Given the description of an element on the screen output the (x, y) to click on. 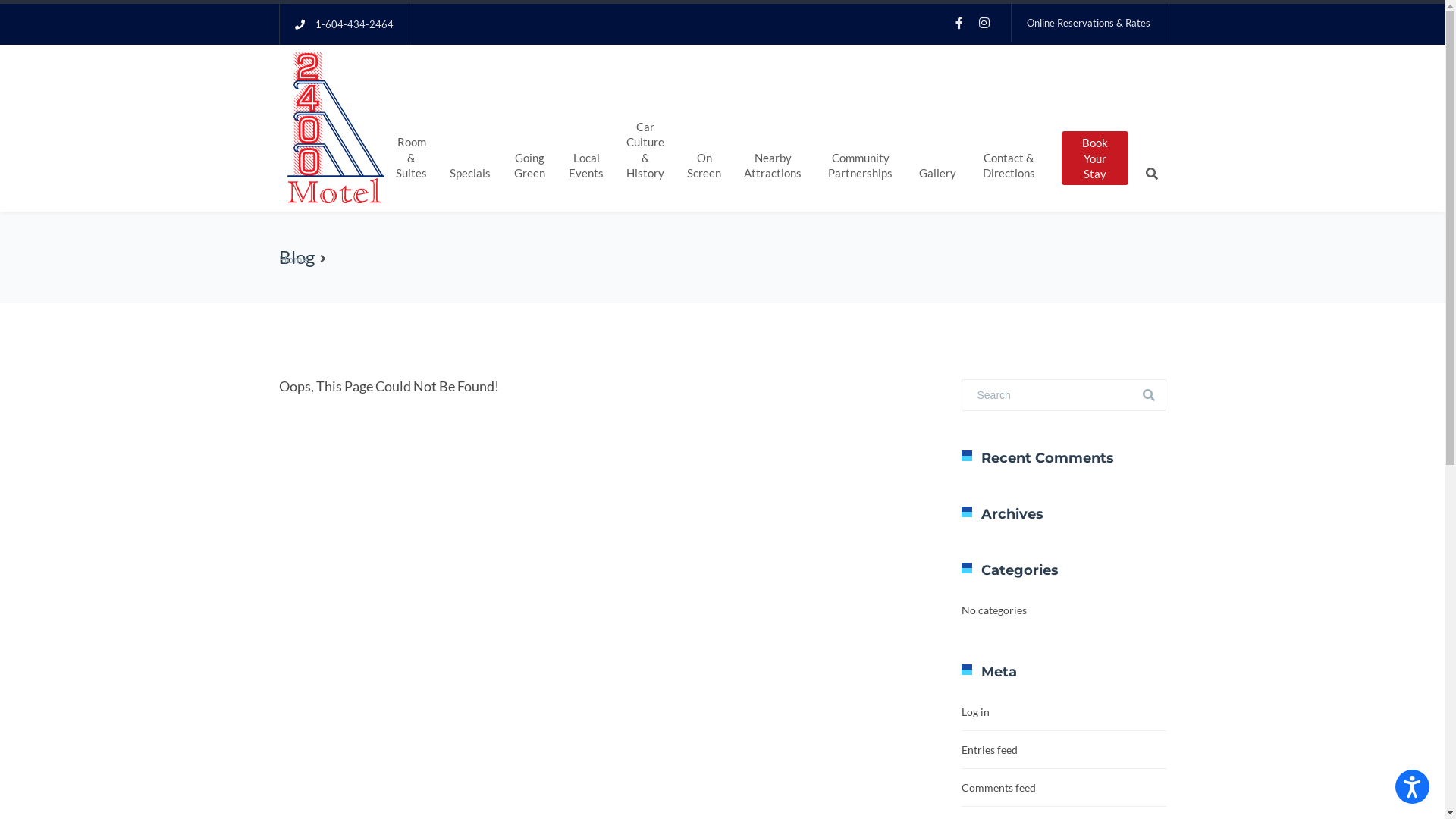
Contact & Directions Element type: text (1008, 163)
On Screen Element type: text (703, 163)
Entries feed Element type: text (989, 749)
Going Green Element type: text (529, 163)
Community Partnerships Element type: text (859, 163)
2400 Motel Element type: hover (332, 127)
Log in Element type: text (975, 711)
Room
& Suites Element type: text (411, 155)
Home Element type: text (293, 258)
Comments feed Element type: text (998, 787)
Gallery Element type: text (937, 170)
Local
Events Element type: text (586, 163)
Book Your Stay Element type: text (1094, 158)
Car Culture
& History Element type: text (645, 147)
Nearby
Attractions Element type: text (772, 163)
Specials Element type: text (470, 170)
Online Reservations & Rates Element type: text (1088, 22)
1-604-434-2464 Element type: text (354, 24)
